Given the description of an element on the screen output the (x, y) to click on. 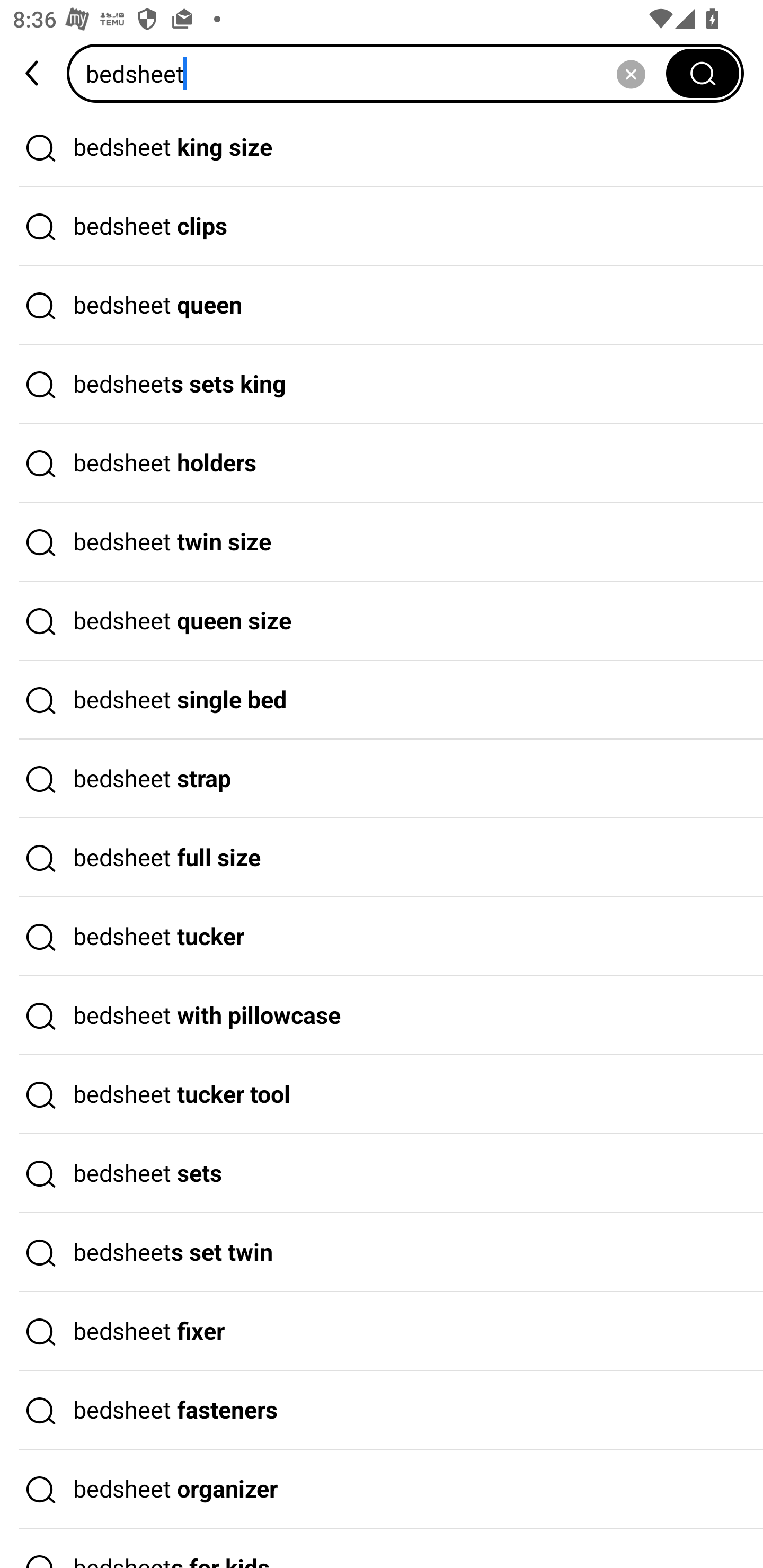
back (33, 72)
bedsheet (372, 73)
Delete search history (630, 73)
bedsheet king size (381, 147)
bedsheet clips (381, 226)
bedsheet queen (381, 305)
bedsheets sets king (381, 383)
bedsheet holders (381, 463)
bedsheet twin size (381, 542)
bedsheet queen size (381, 620)
bedsheet single bed (381, 700)
bedsheet strap (381, 779)
bedsheet full size (381, 857)
bedsheet tucker (381, 936)
bedsheet with pillowcase (381, 1015)
bedsheet tucker tool (381, 1094)
bedsheet sets (381, 1173)
bedsheets set twin (381, 1252)
bedsheet fixer (381, 1331)
